Given the description of an element on the screen output the (x, y) to click on. 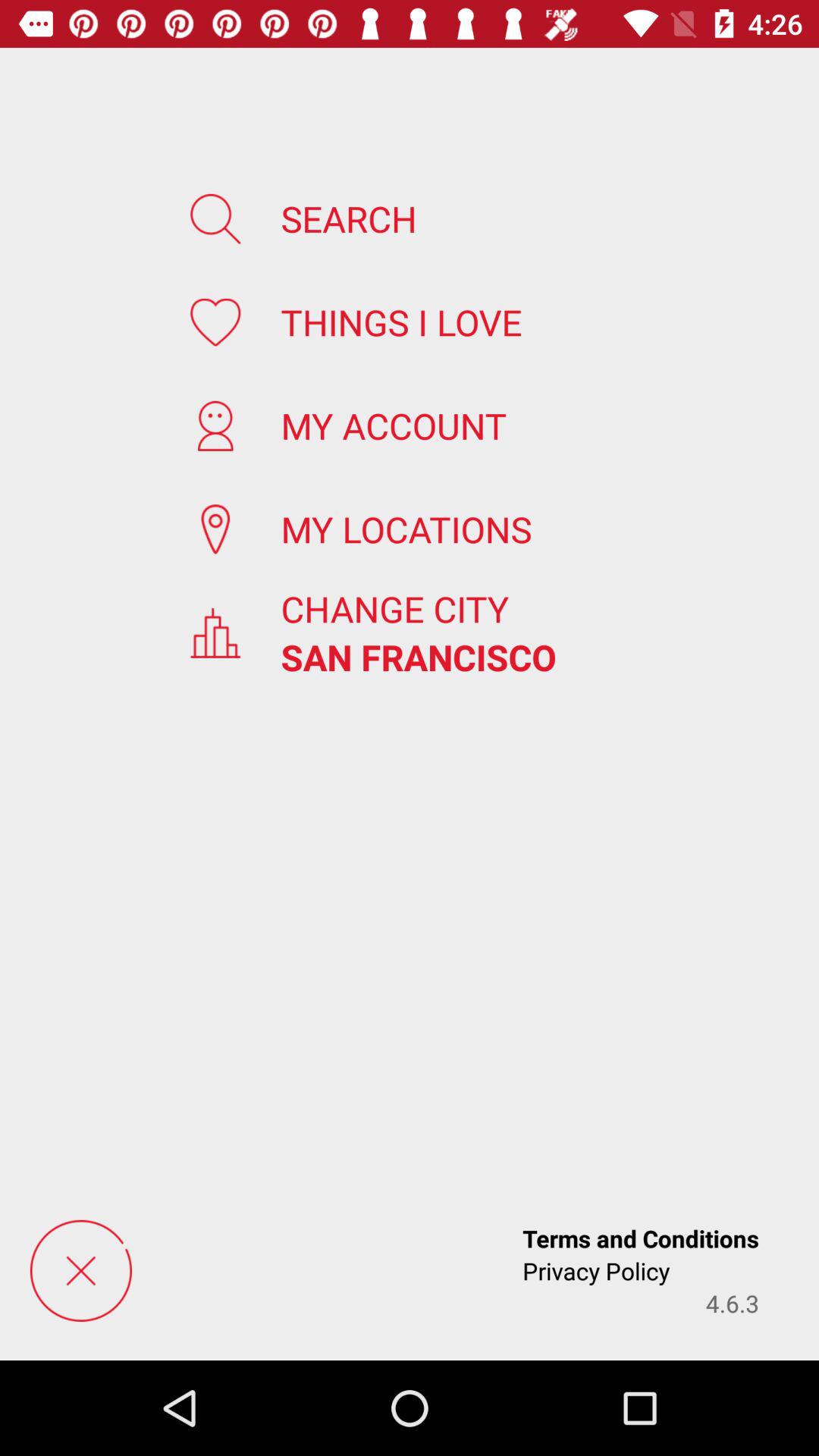
turn on icon above the terms and conditions item (418, 657)
